Given the description of an element on the screen output the (x, y) to click on. 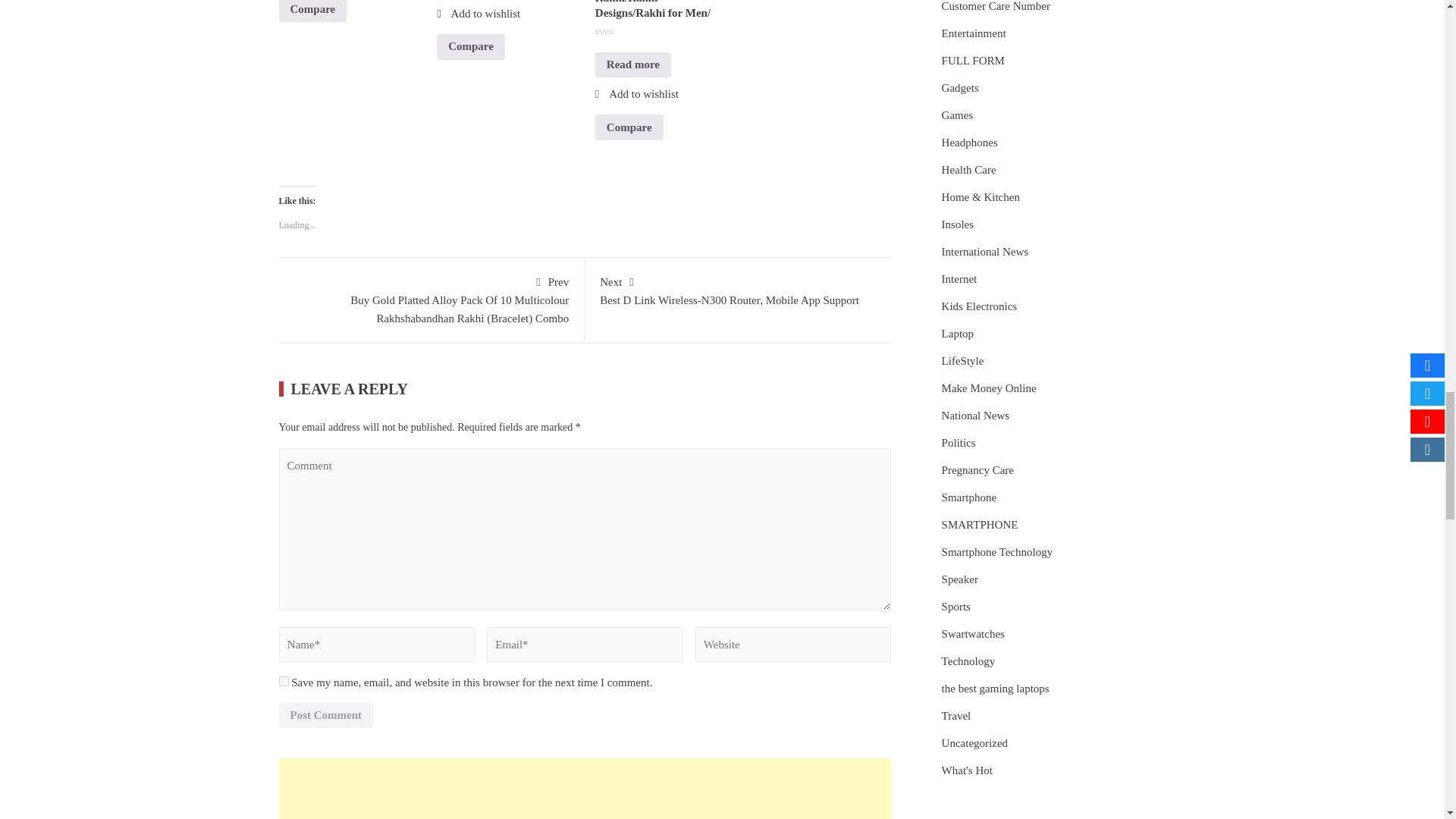
yes (283, 681)
Post Comment (326, 715)
Compare (313, 11)
